Given the description of an element on the screen output the (x, y) to click on. 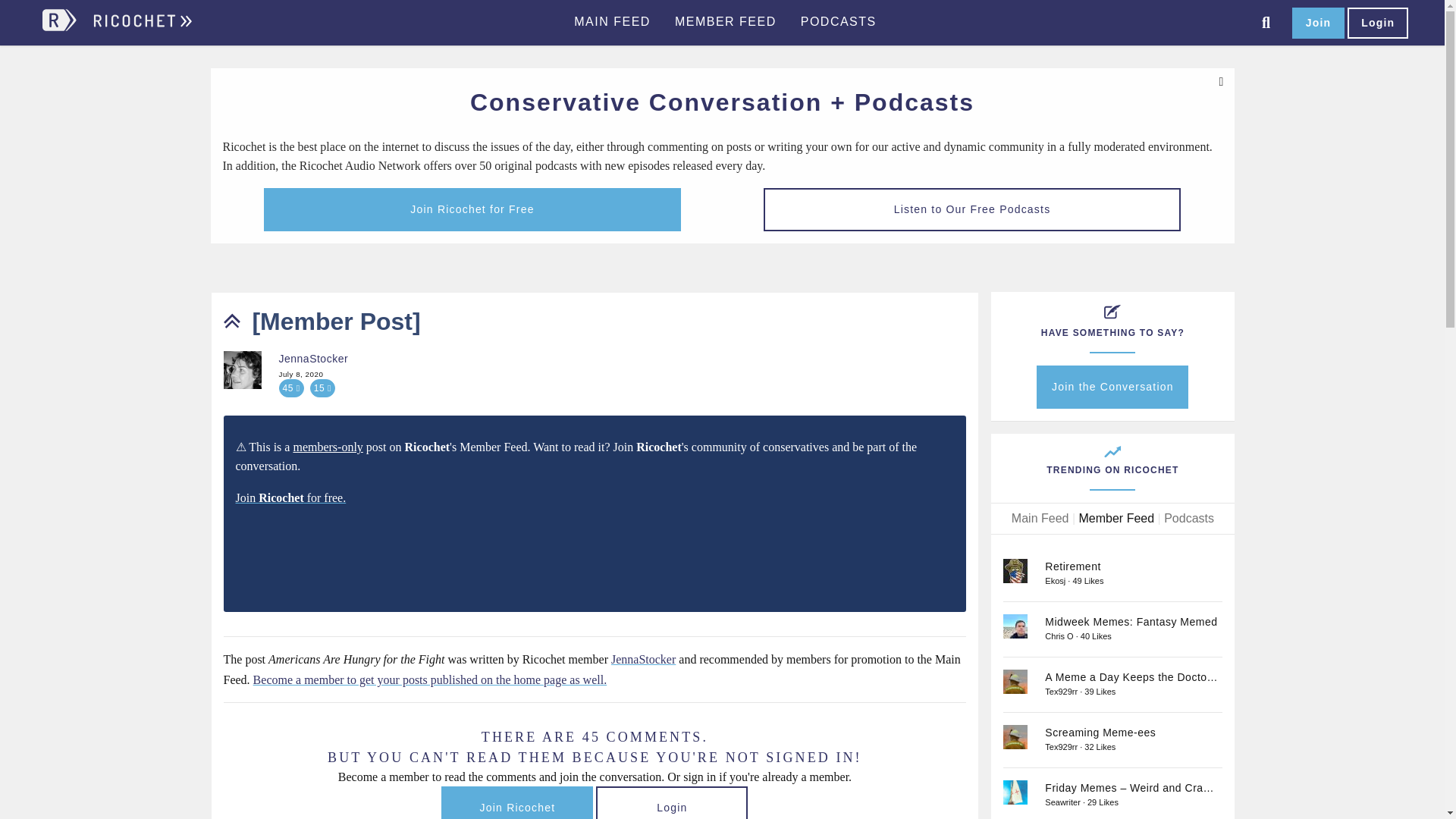
JennaStocker (241, 370)
Search (1266, 22)
MAIN FEED (611, 22)
MEMBER FEED (725, 22)
45 Comments (291, 388)
15 members are following this (322, 388)
PODCASTS (838, 22)
Ricochet Home Page (141, 26)
